Given the description of an element on the screen output the (x, y) to click on. 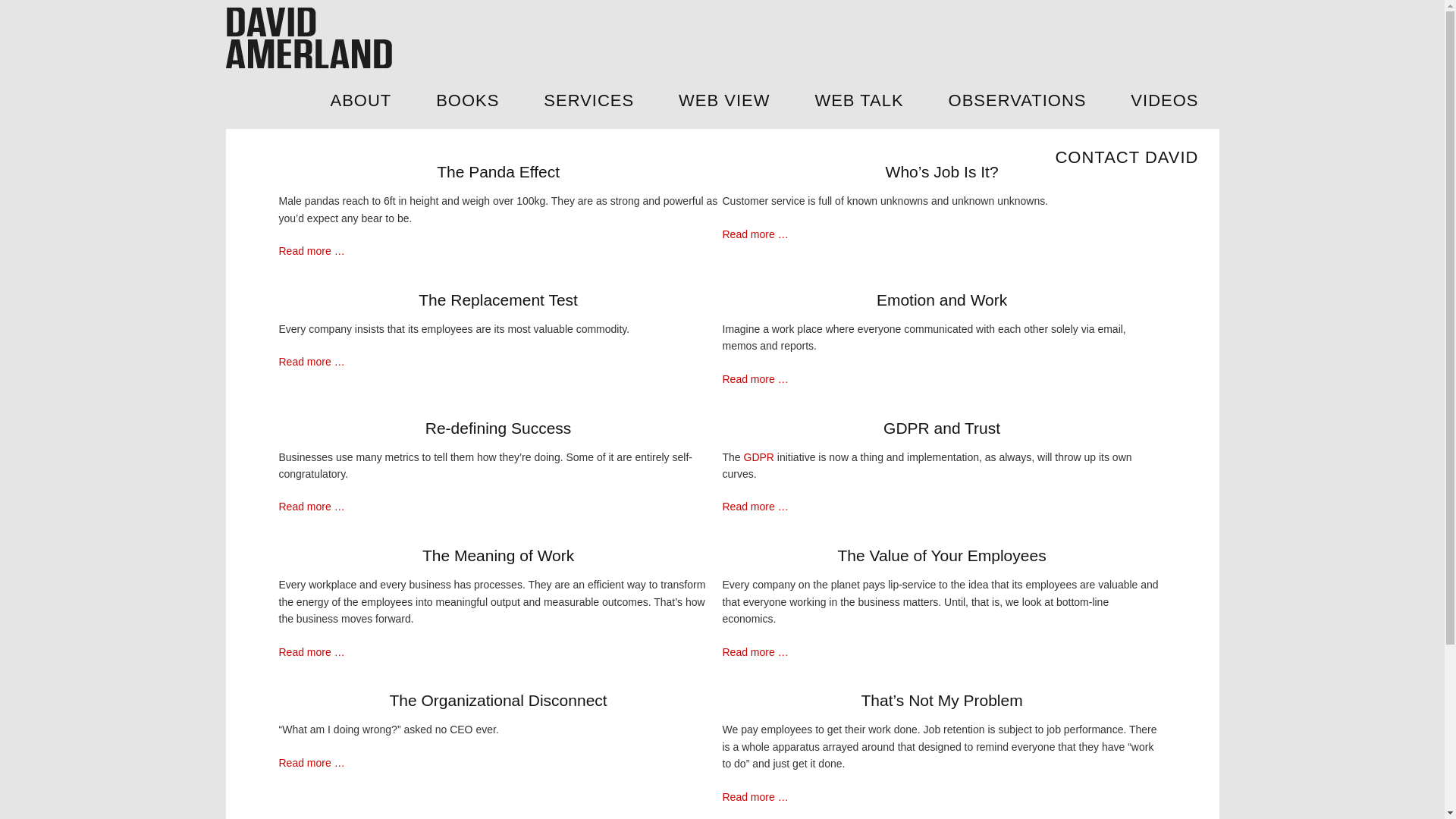
WEB VIEW (724, 100)
ABOUT (360, 100)
The Value of Your Employees (941, 555)
DAREBEE (312, 37)
BOOKS (466, 100)
WEB TALK (858, 100)
OBSERVATIONS (1017, 100)
SERVICES (587, 100)
Re-defining Success (498, 427)
The Meaning of Work (498, 555)
